Given the description of an element on the screen output the (x, y) to click on. 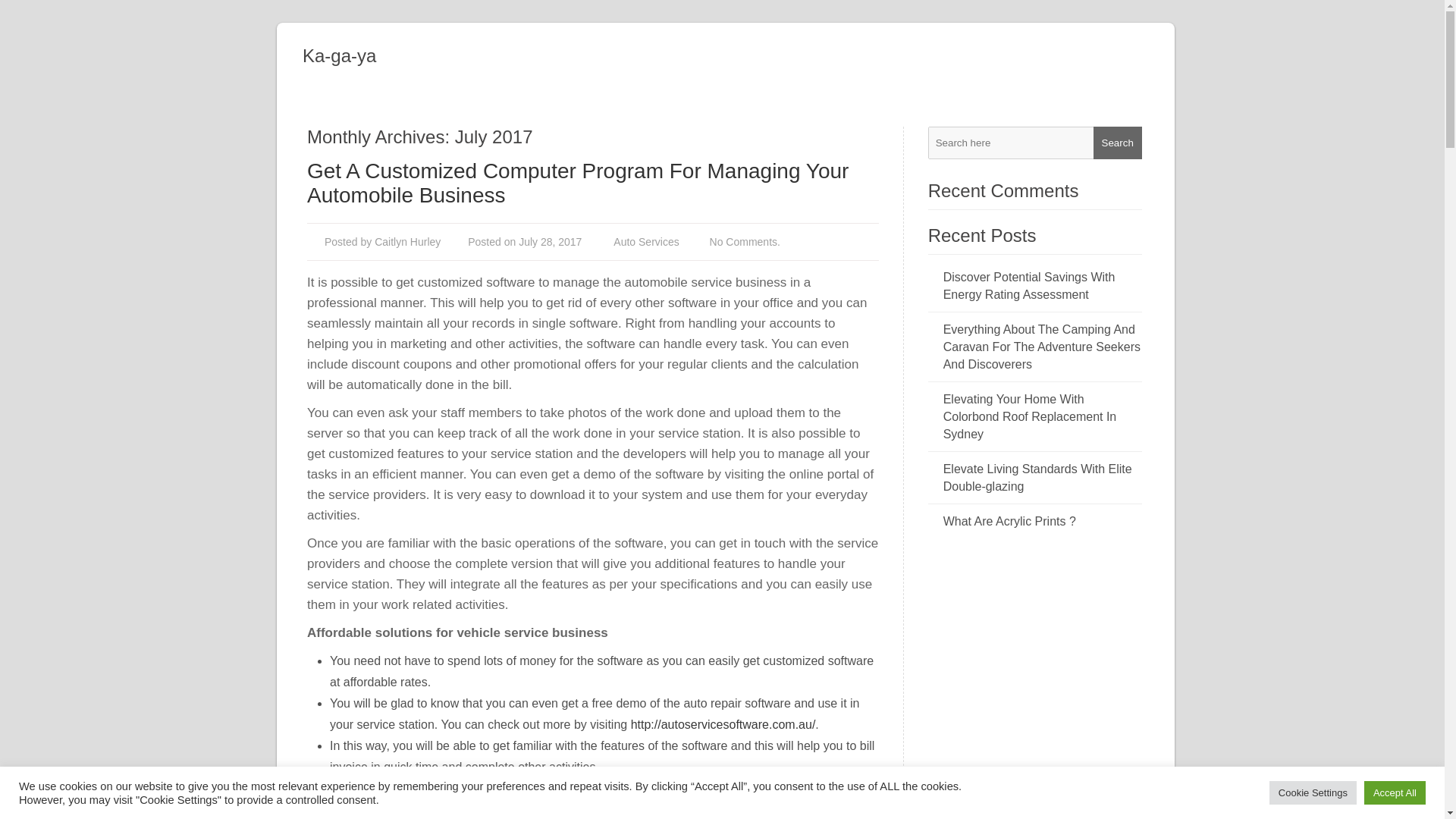
Auto Services (645, 241)
No Comments. (745, 241)
Caitlyn Hurley (407, 241)
Monthly Archives: July 2017 (597, 137)
Search (1117, 142)
Ka-ga-ya (738, 55)
Discover Potential Savings With Energy Rating Assessment (1042, 285)
